Given the description of an element on the screen output the (x, y) to click on. 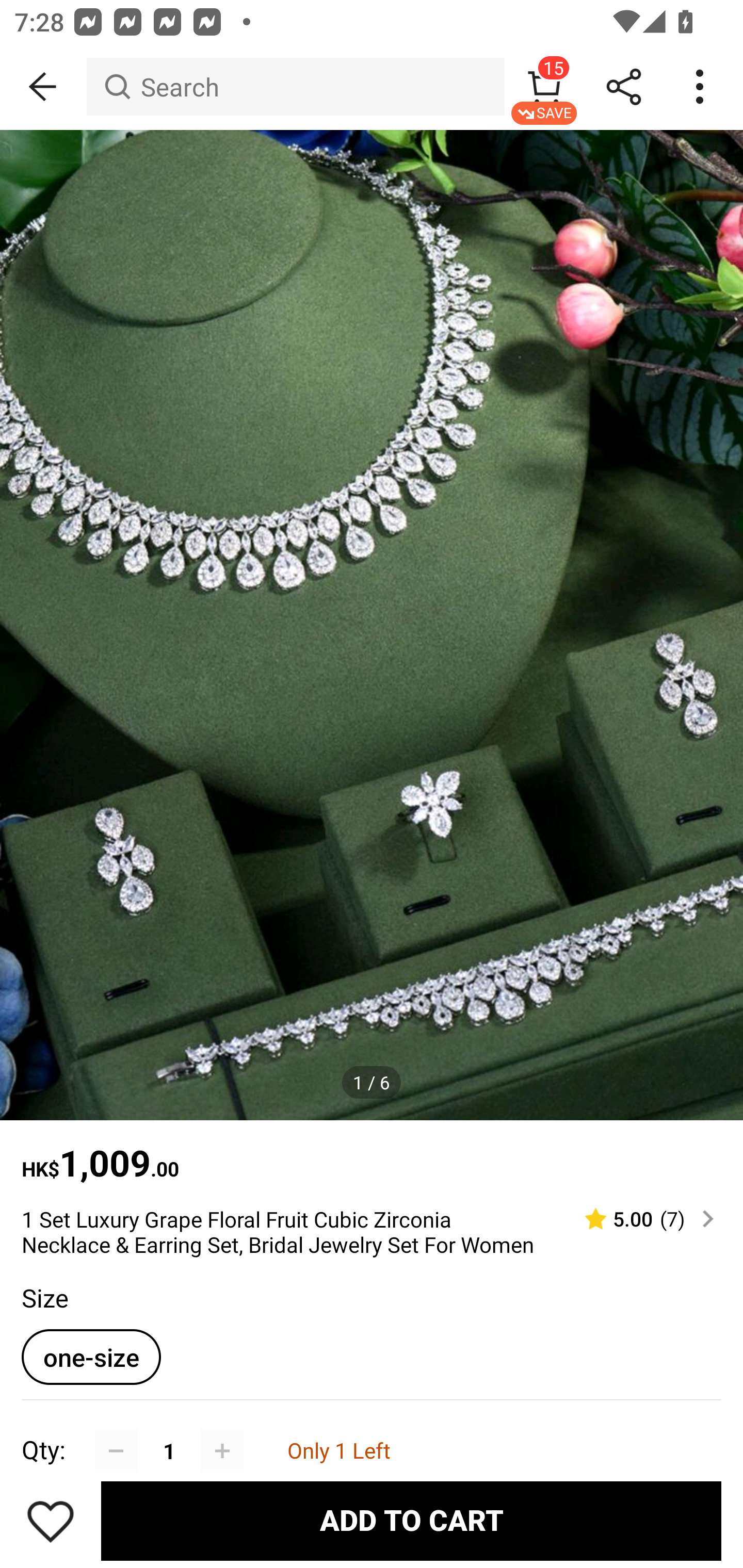
BACK (43, 86)
15 SAVE (543, 87)
Search (295, 87)
1 / 6 (371, 1082)
HK$1,009.00 (371, 1152)
5.00 (7) (640, 1219)
Size (44, 1297)
one-size one-sizeselected option (91, 1356)
ADD TO CART (411, 1520)
Save (50, 1520)
